Given the description of an element on the screen output the (x, y) to click on. 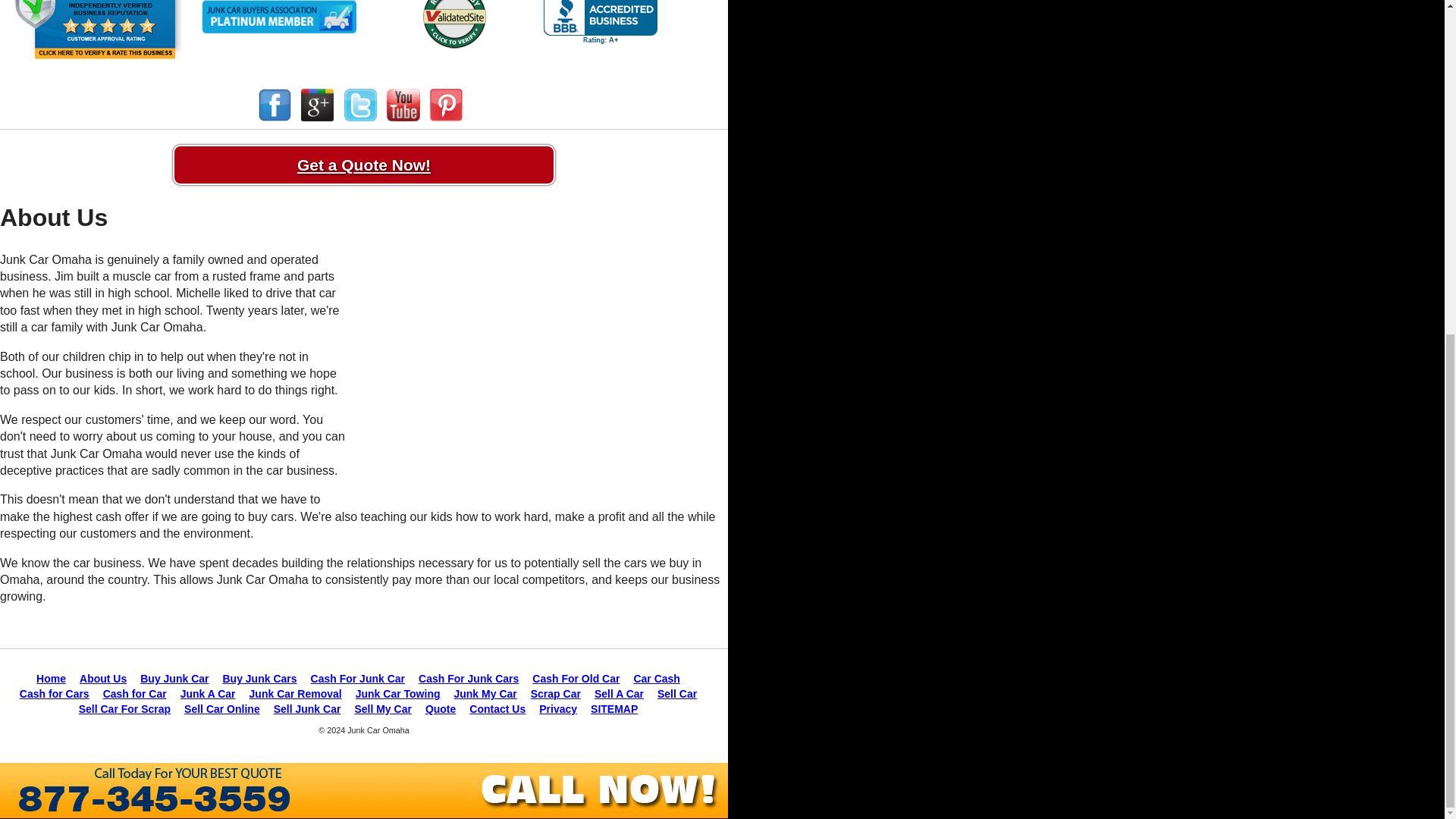
Buy Junk Car (173, 678)
Junk Car Removal (295, 693)
Scrap Car (555, 693)
Car Cash (656, 678)
Junk My Car (484, 693)
Cash For Old Car (576, 678)
Cash For Junk Car (357, 678)
Junk A Car (207, 693)
Junk Car Towing (398, 693)
Sell Car Online (222, 708)
Sell A Car (618, 693)
SITEMAP (614, 708)
Buy Junk Cars (259, 678)
Sell My Car (381, 708)
Get a Quote Now! (363, 164)
